Given the description of an element on the screen output the (x, y) to click on. 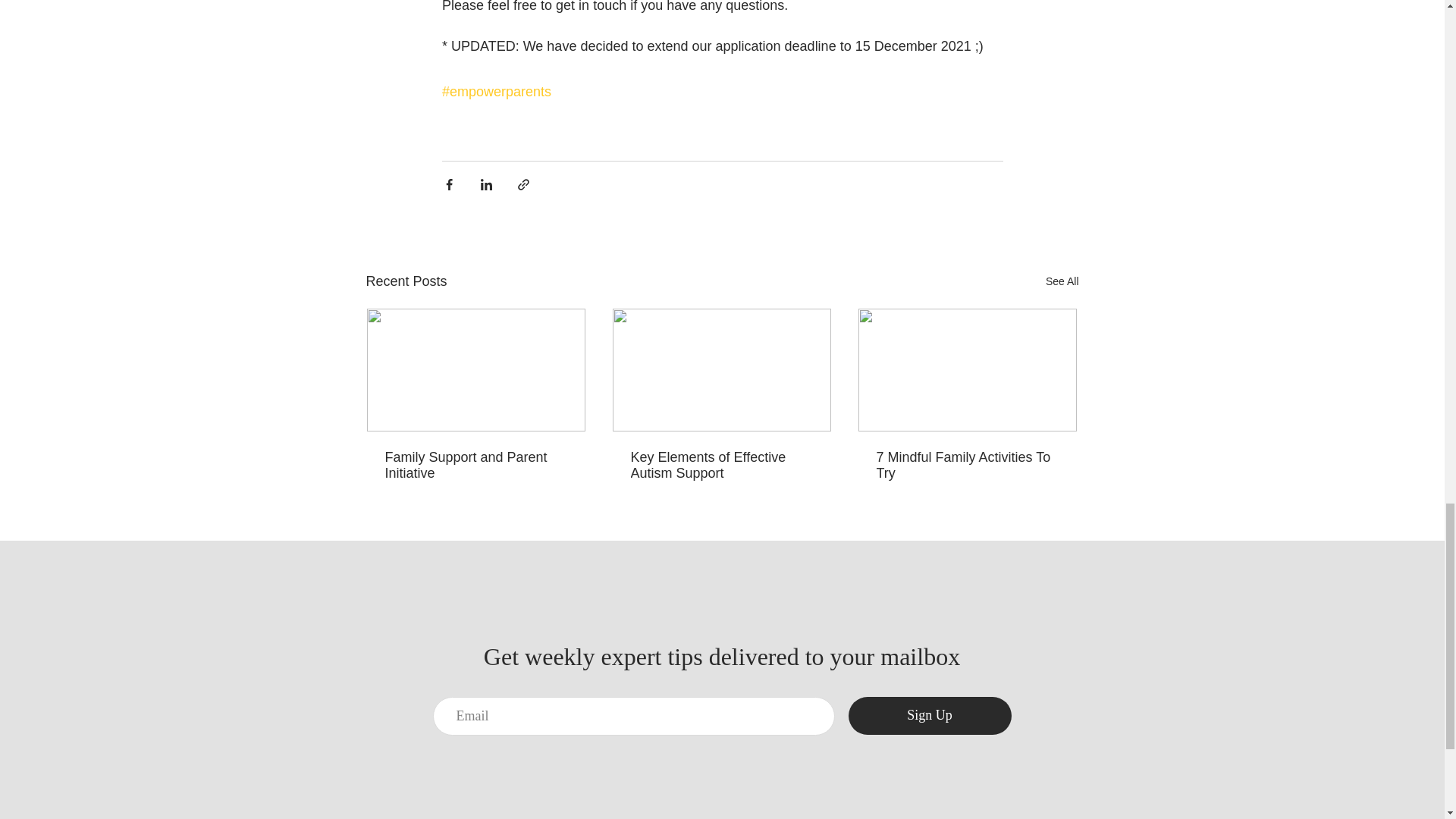
See All (1061, 281)
Sign Up (928, 715)
Key Elements of Effective Autism Support (721, 465)
Family Support and Parent Initiative (476, 465)
7 Mindful Family Activities To Try (967, 465)
